Given the description of an element on the screen output the (x, y) to click on. 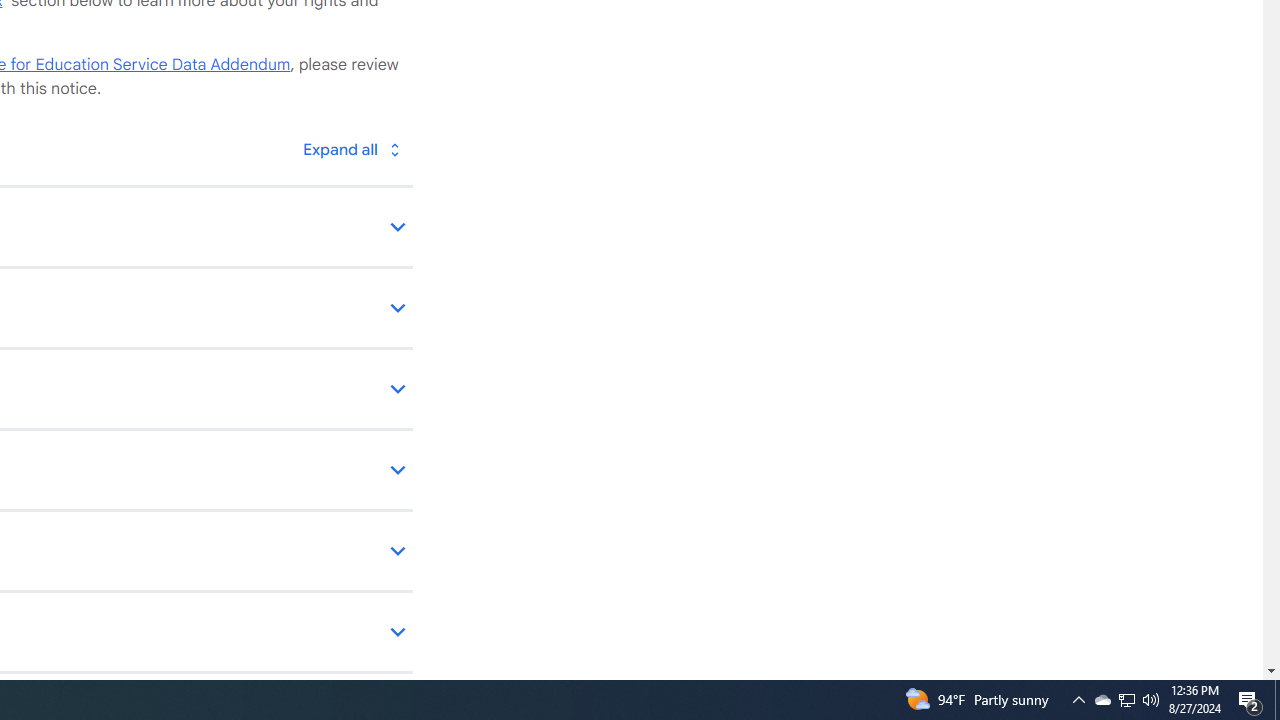
Toggle all (351, 148)
